Given the description of an element on the screen output the (x, y) to click on. 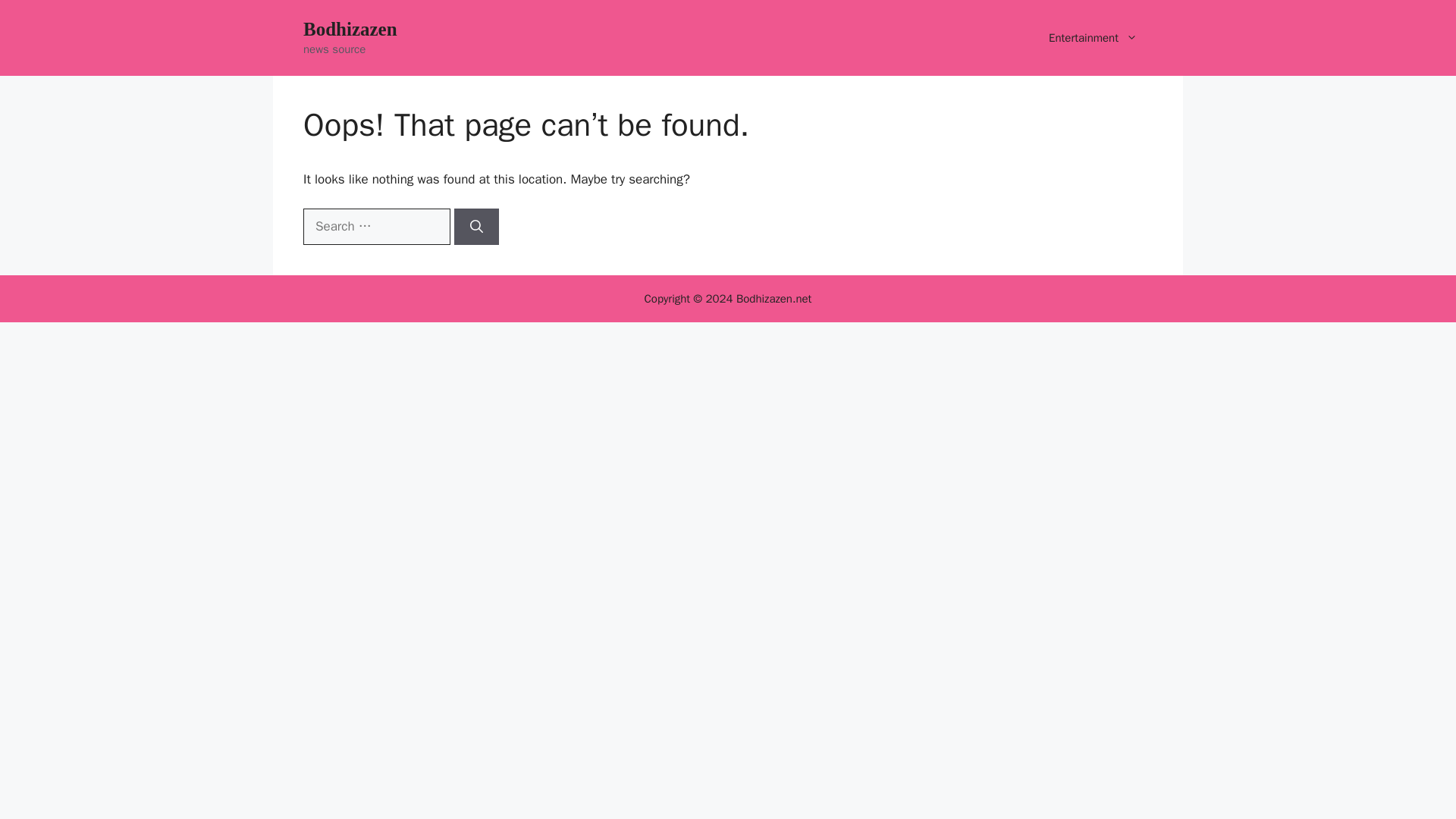
Bodhizazen (349, 28)
Entertainment (1093, 37)
Search for: (375, 226)
